Given the description of an element on the screen output the (x, y) to click on. 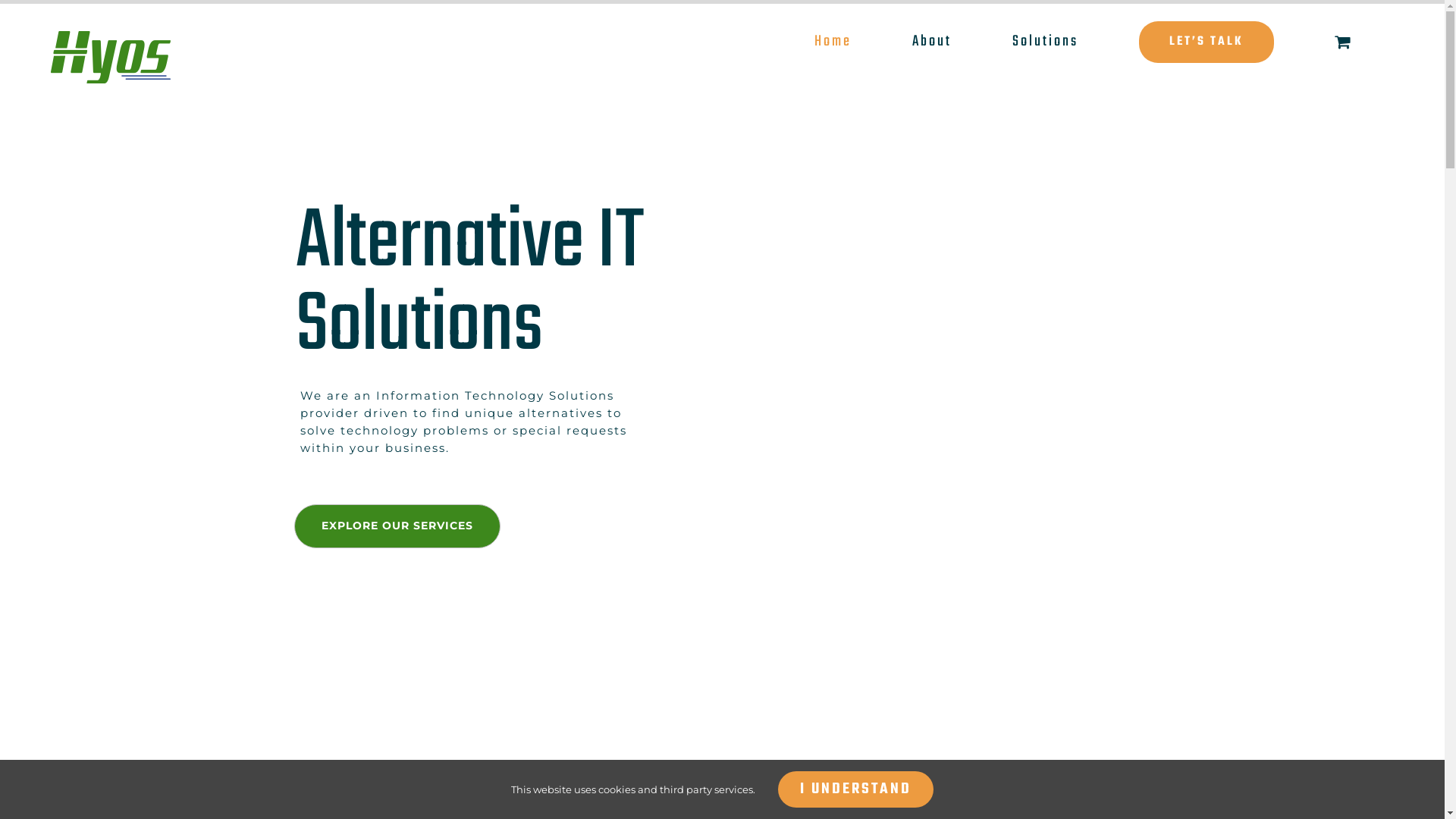
I UNDERSTAND Element type: text (855, 789)
Solutions Element type: text (1045, 41)
Home Element type: text (832, 41)
About Element type: text (931, 41)
